Given the description of an element on the screen output the (x, y) to click on. 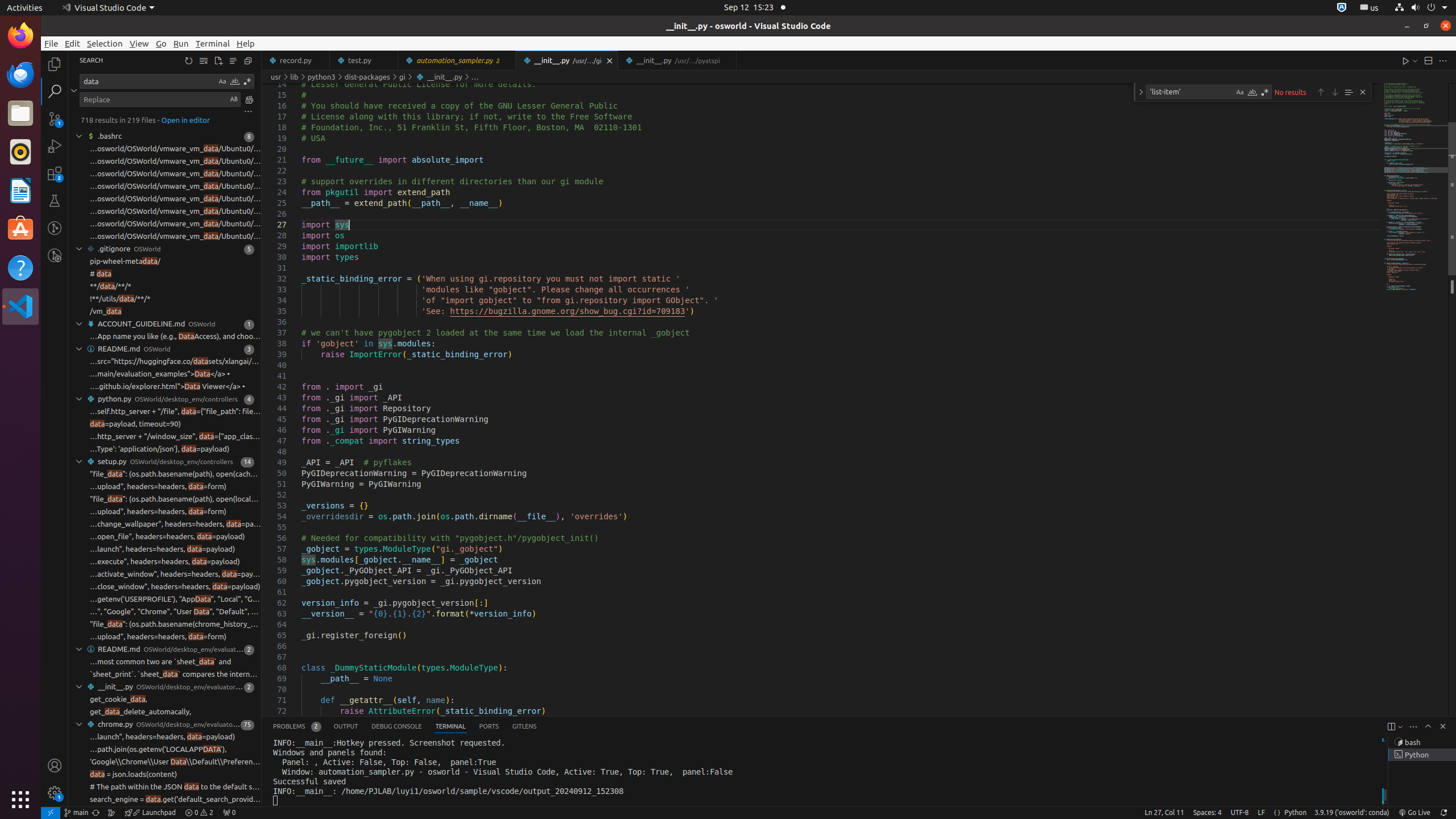
No Ports Forwarded Element type: push-button (228, 812)
automation_sampler.py, preview Element type: page-tab (457, 60)
'alias vmbash='function _vmbash() { vmrun -T ws -gu user -gp password runScriptInGuest /home/PJLAB/luyi1/osworld/OSWorld/vmware_vm_data/Ubuntu0/Ubuntu0.vmx "/bin/bash" "$1 > /home/user/vm.log 2>&1" && vmrun -gu user -gp password copyFileFromGuestToHost /home/PJLAB/luyi1/osworld/OSWorld/vmware_vm_data/Ubuntu0/Ubuntu0.vmx /home/user/vm.log vm.log; }; _vmbash' vmrun -T ws -gu user -gp password runScriptInGuest /home/PJLAB/luyi1/osworld/OSWorld/vmware_' at column 297 found data Element type: tree-item (164, 185)
' <a href="https://os-world.github.io/explorer.html">Data Viewer</a> •' at column 54 found Data Element type: tree-item (164, 386)
' 'Google\\Chrome\\User Data\\Default\\Preferences'))""")['output'].strip()' at column 67 found Data Element type: tree-item (164, 761)
